Given the description of an element on the screen output the (x, y) to click on. 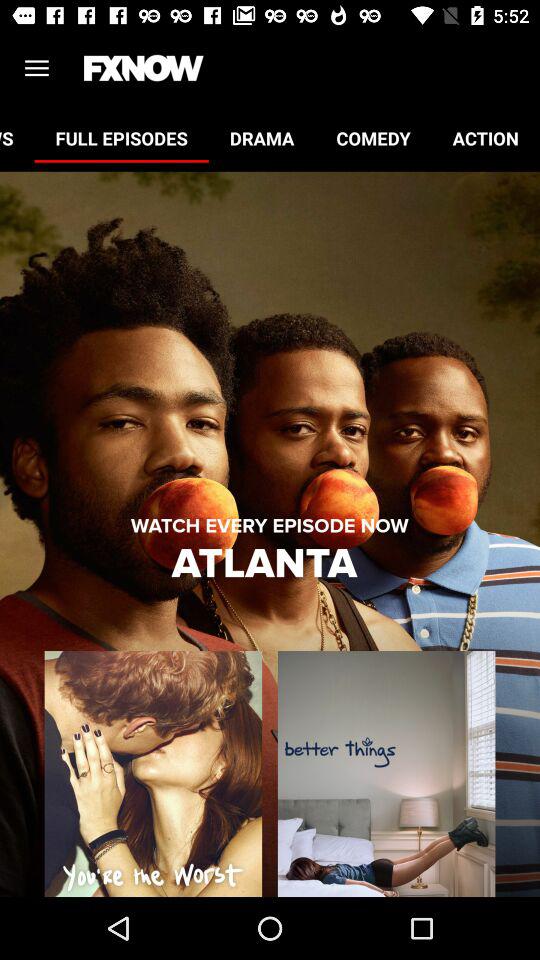
flip until the action (485, 138)
